Given the description of an element on the screen output the (x, y) to click on. 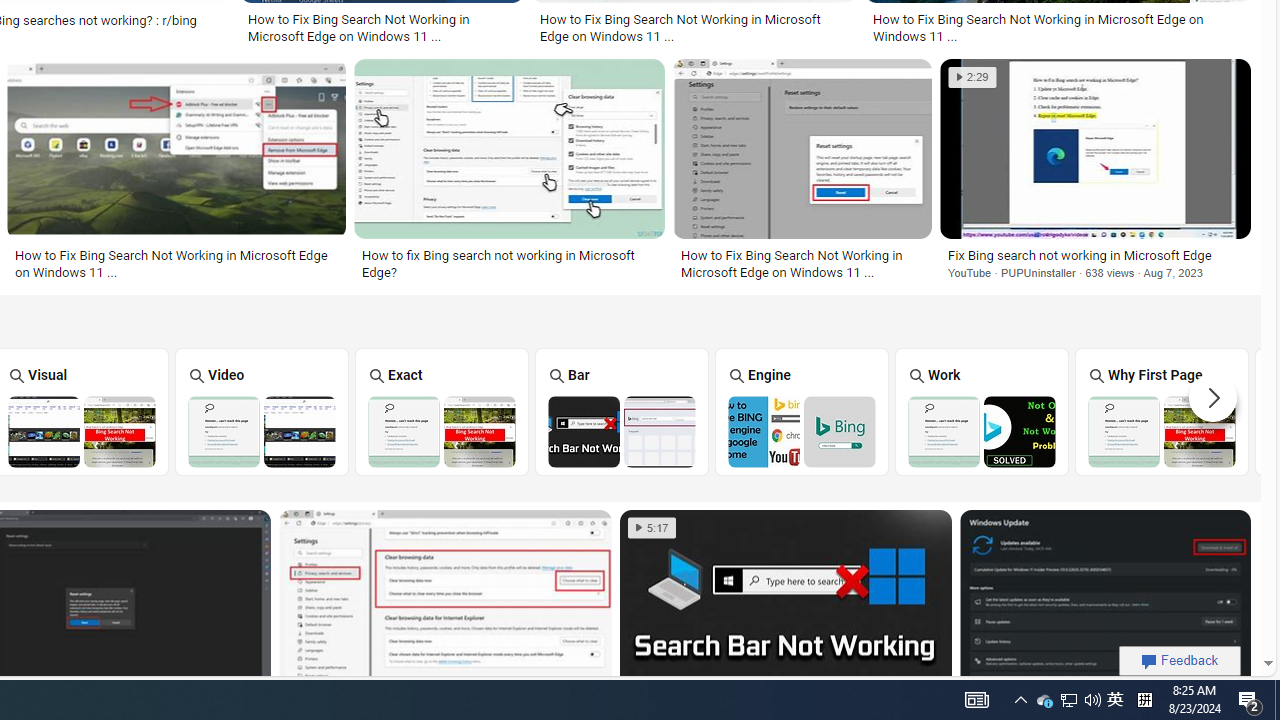
Scroll more suggestions right (1213, 398)
Image result for Bing Search Not Working (1105, 602)
Engine (801, 411)
